Given the description of an element on the screen output the (x, y) to click on. 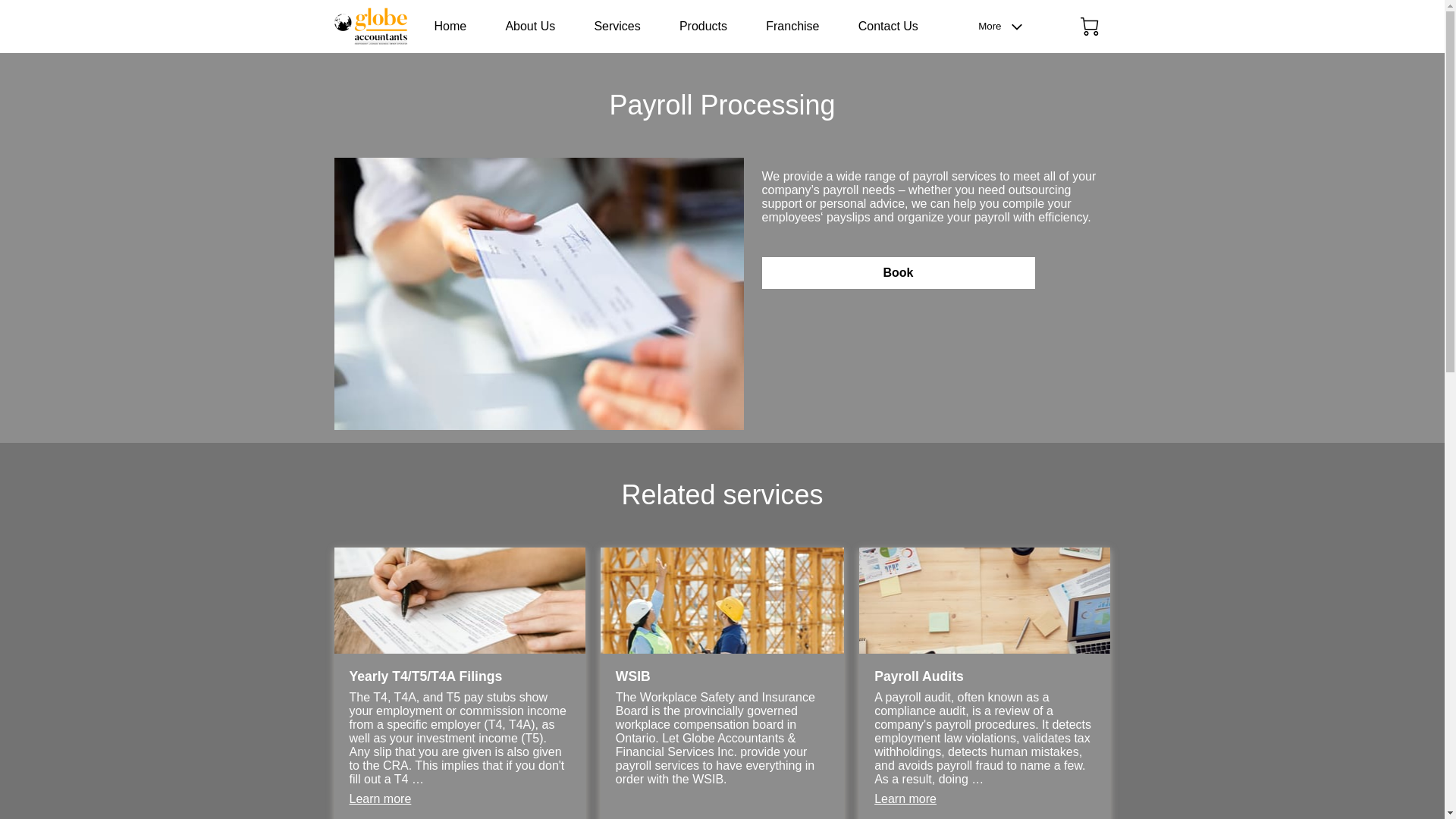
Home (449, 26)
Franchise (791, 26)
0 (1088, 26)
More (1004, 26)
About Us (529, 26)
Products (702, 26)
Book (897, 273)
Contact Us (888, 26)
Services (617, 26)
